Given the description of an element on the screen output the (x, y) to click on. 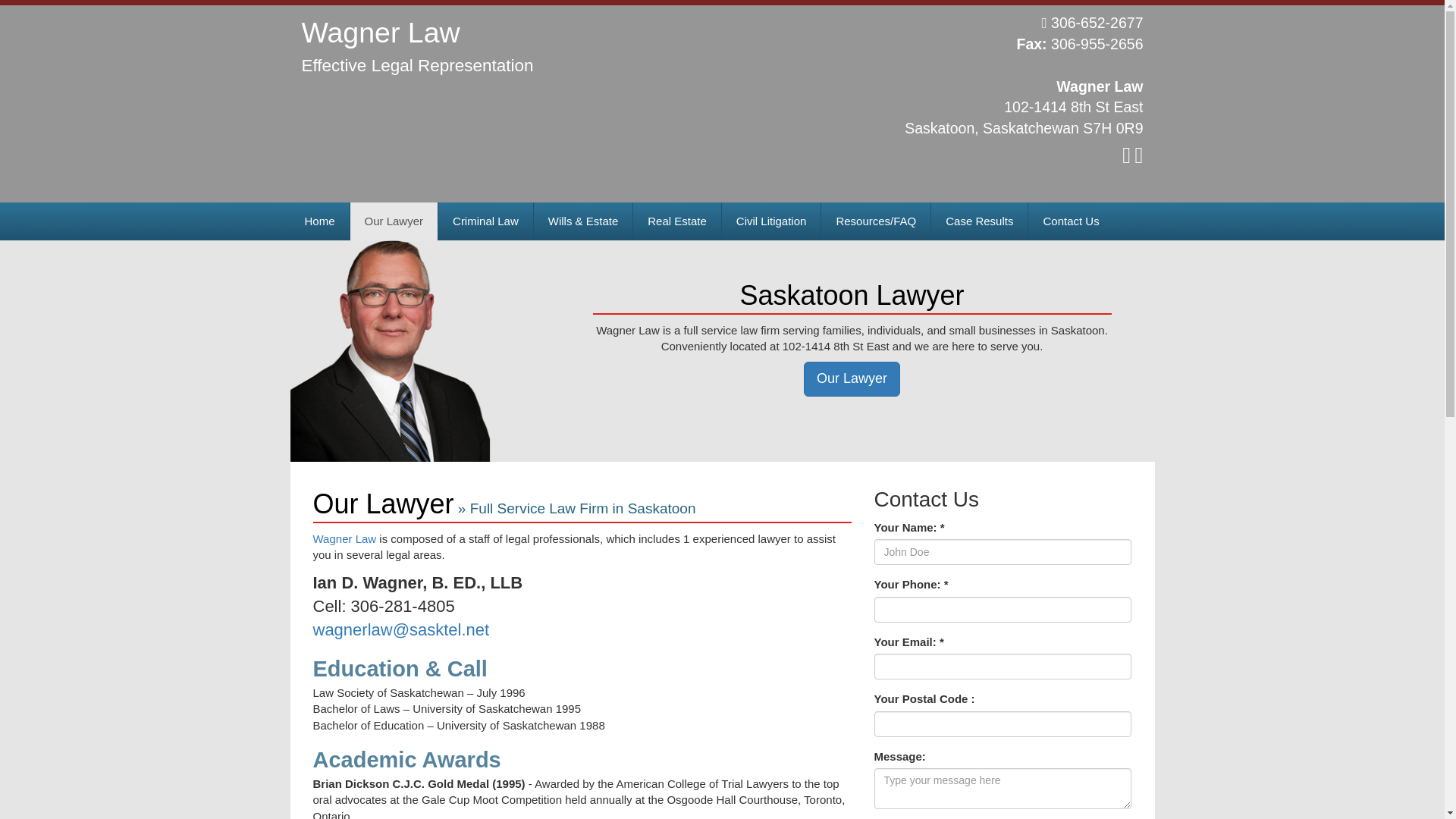
Our Lawyer (851, 378)
Home (319, 221)
Real Estate (676, 221)
Contact Us (1070, 221)
Wagner Law (380, 38)
Our Lawyer (394, 221)
Civil Litigation (771, 221)
Criminal Law (485, 221)
306-652-2677 (1092, 22)
Wagner Law (345, 538)
